Given the description of an element on the screen output the (x, y) to click on. 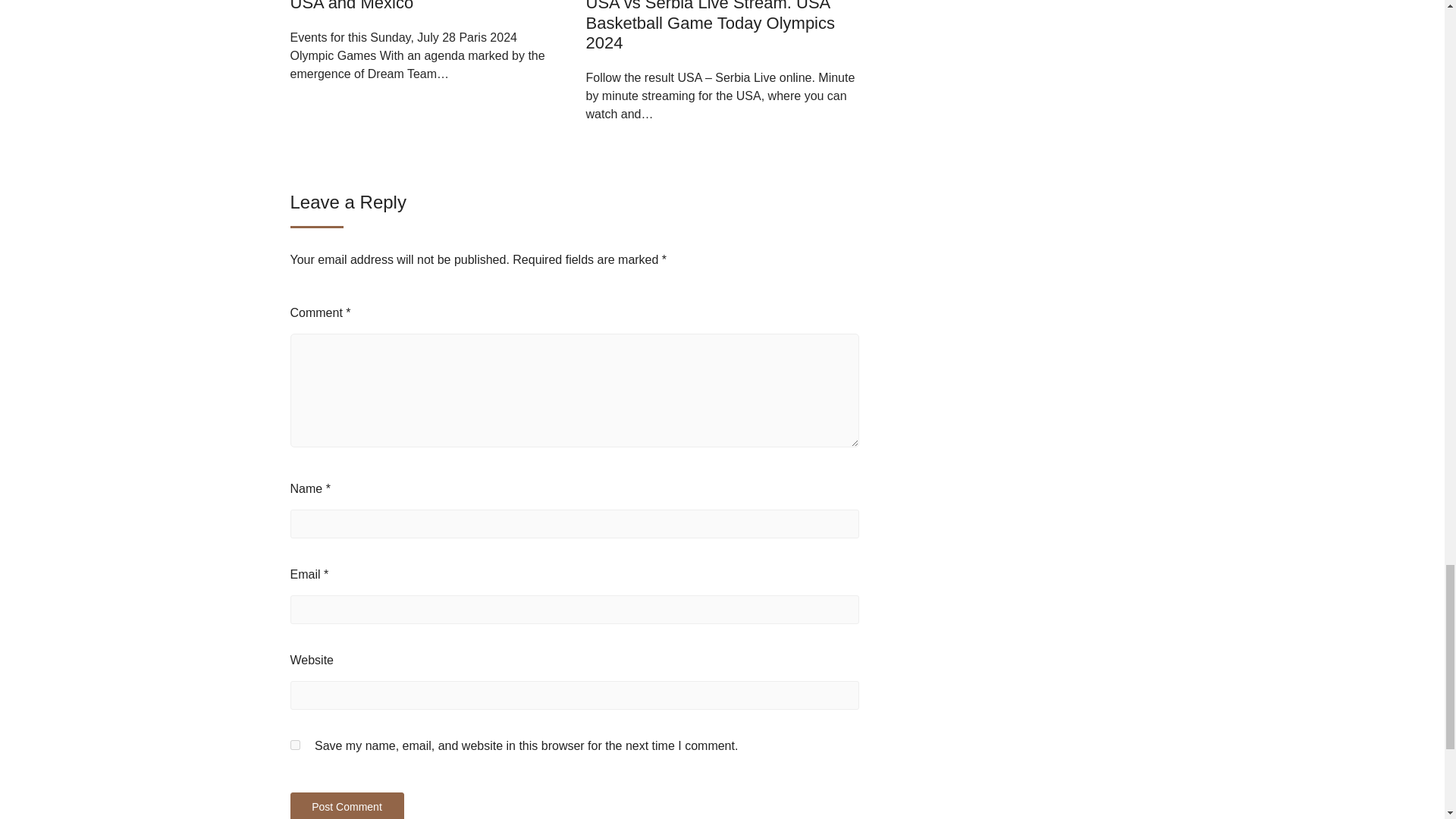
Schedules and where to see it in the USA and Mexico (424, 6)
yes (294, 745)
Post Comment (346, 805)
Post Comment (346, 805)
